Given the description of an element on the screen output the (x, y) to click on. 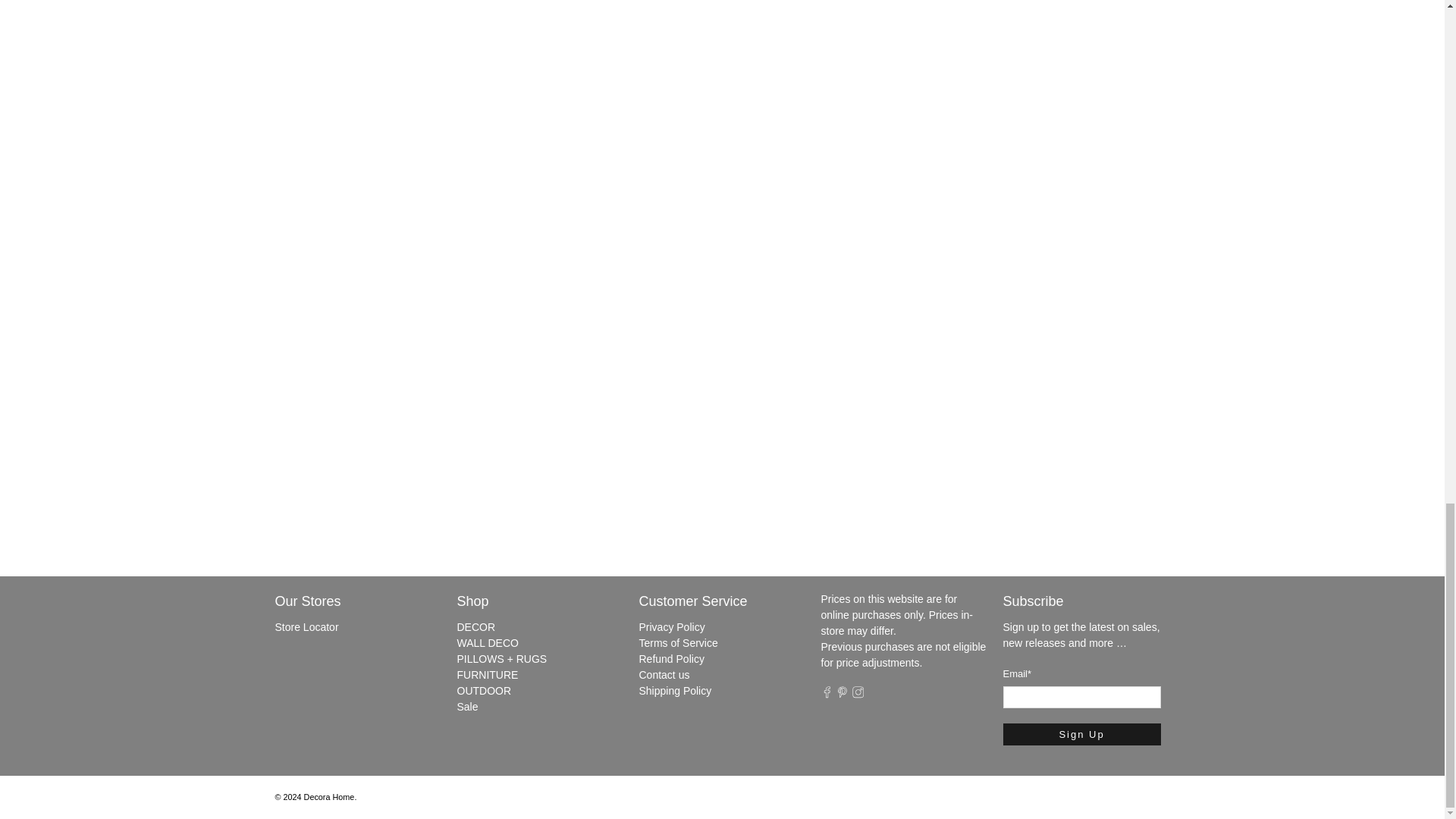
Decora Home on Instagram (857, 694)
Decora Home on Facebook (826, 694)
Decora Home on Pinterest (841, 694)
